Given the description of an element on the screen output the (x, y) to click on. 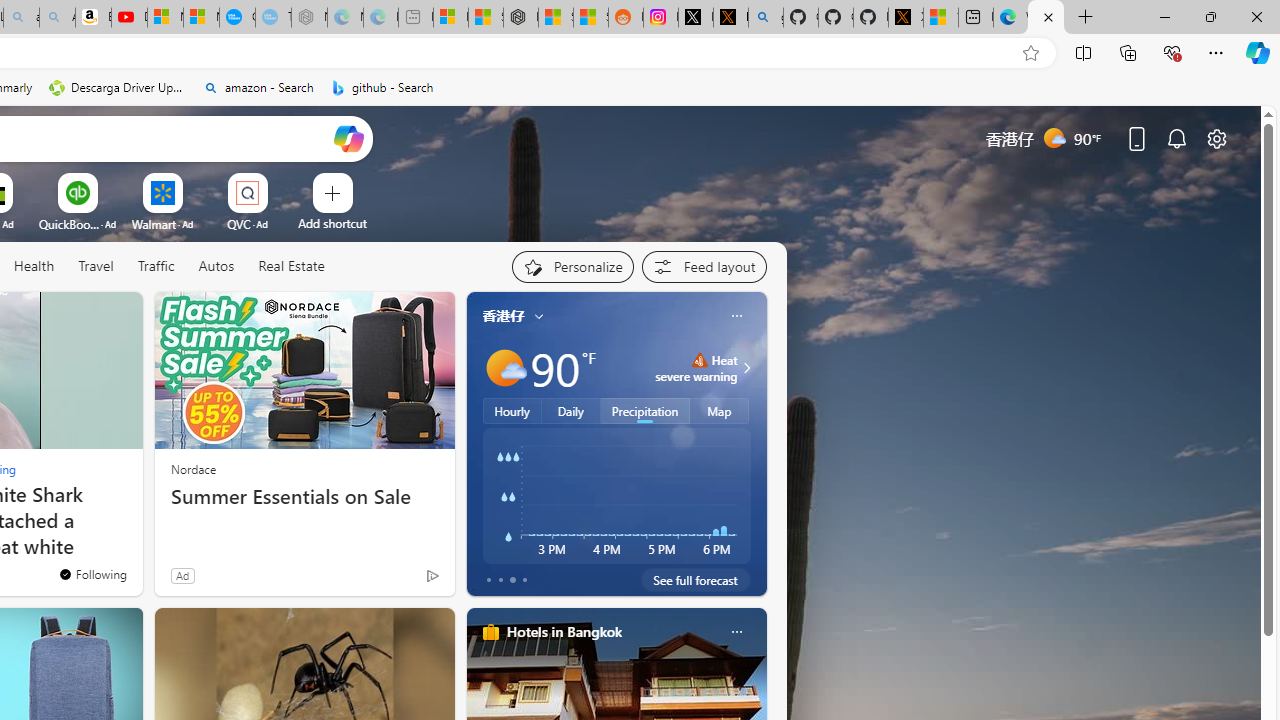
Autos (215, 265)
Page settings (1216, 138)
Split screen (1083, 52)
Day 1: Arriving in Yemen (surreal to be here) - YouTube (129, 17)
Personalize your feed" (571, 266)
Nordace (193, 468)
Open Copilot (347, 138)
New tab - Sleeping (415, 17)
Precipitation (645, 411)
More options (736, 631)
Add a site (332, 223)
Real Estate (290, 267)
Descarga Driver Updater (118, 88)
